Given the description of an element on the screen output the (x, y) to click on. 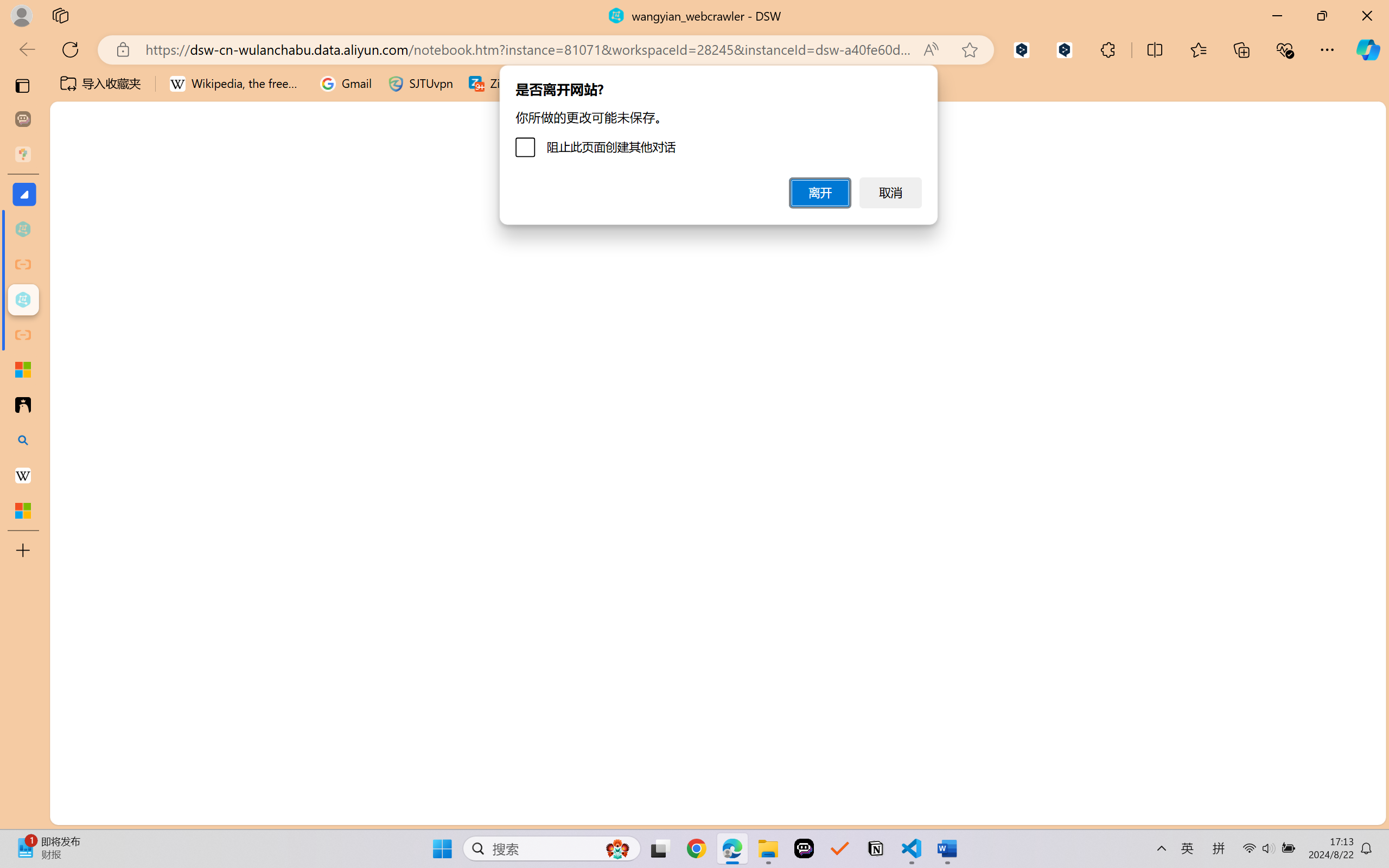
Wikipedia, the free encyclopedia (236, 83)
Gmail (345, 83)
Copilot (Ctrl+Shift+.) (1368, 49)
